Given the description of an element on the screen output the (x, y) to click on. 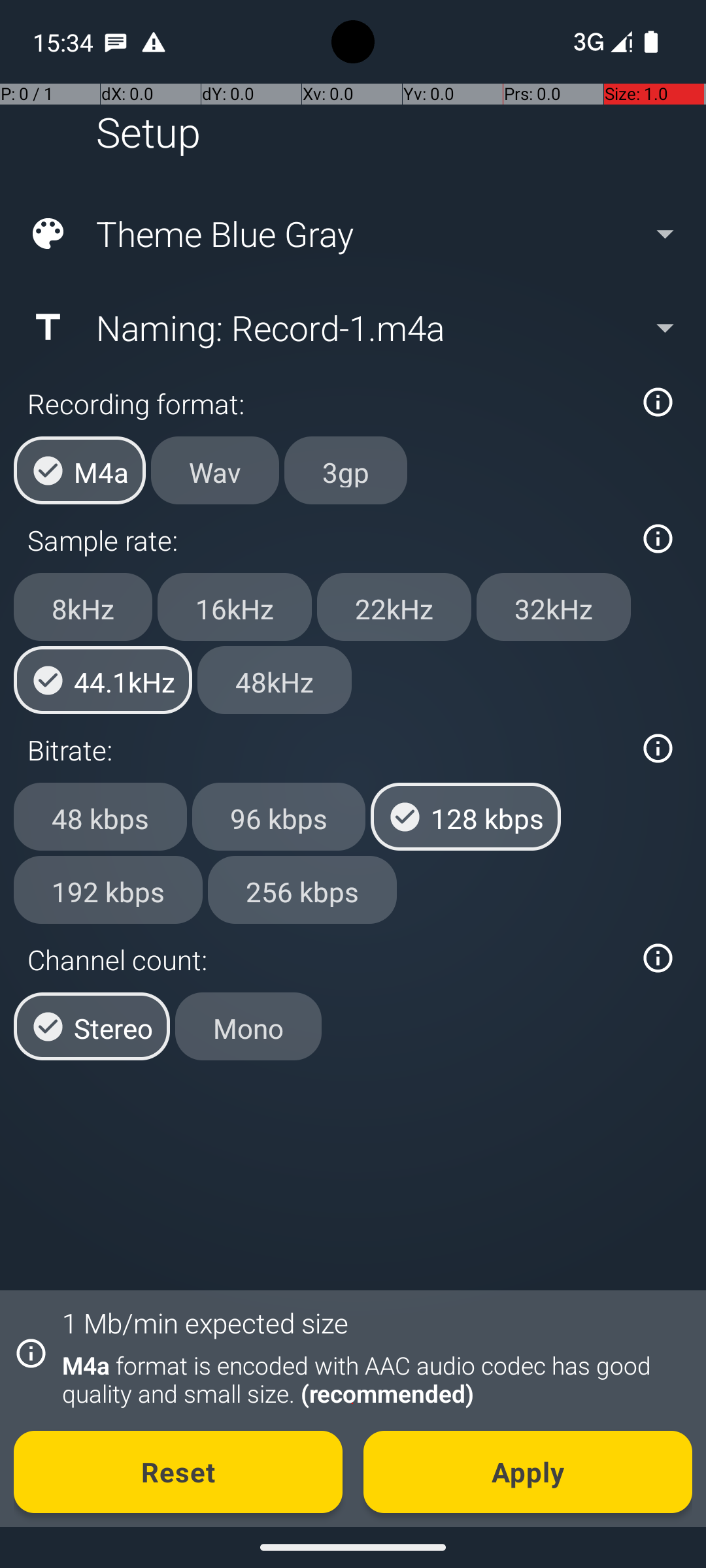
1 Mb/min expected size Element type: android.widget.TextView (205, 1322)
M4a format is encoded with AAC audio codec has good quality and small size. (recommended) Element type: android.widget.TextView (370, 1378)
Reset Element type: android.widget.Button (177, 1471)
Apply Element type: android.widget.Button (527, 1471)
Setup Element type: android.widget.TextView (148, 131)
Recording format: Element type: android.widget.TextView (325, 403)
M4a Element type: android.widget.TextView (79, 470)
Wav Element type: android.widget.TextView (215, 470)
3gp Element type: android.widget.TextView (345, 470)
Sample rate: Element type: android.widget.TextView (325, 539)
44.1kHz Element type: android.widget.TextView (102, 680)
16kHz Element type: android.widget.TextView (234, 606)
22kHz Element type: android.widget.TextView (394, 606)
32kHz Element type: android.widget.TextView (553, 606)
48kHz Element type: android.widget.TextView (274, 680)
8kHz Element type: android.widget.TextView (82, 606)
Bitrate: Element type: android.widget.TextView (325, 749)
128 kbps Element type: android.widget.TextView (465, 816)
192 kbps Element type: android.widget.TextView (107, 889)
256 kbps Element type: android.widget.TextView (301, 889)
48 kbps Element type: android.widget.TextView (99, 816)
96 kbps Element type: android.widget.TextView (278, 816)
Channel count: Element type: android.widget.TextView (325, 959)
Stereo Element type: android.widget.TextView (91, 1026)
Mono Element type: android.widget.TextView (248, 1026)
Theme Blue Gray Element type: android.widget.TextView (352, 233)
Naming: Record-1.m4a Element type: android.widget.TextView (352, 327)
15:34 Element type: android.widget.TextView (64, 41)
SMS Messenger notification:  Element type: android.widget.ImageView (115, 41)
Android System notification: Data warning Element type: android.widget.ImageView (153, 41)
Phone three bars. Element type: android.widget.FrameLayout (600, 41)
Battery 100 percent. Element type: android.widget.LinearLayout (650, 41)
No internet Element type: android.widget.ImageView (587, 41)
